Given the description of an element on the screen output the (x, y) to click on. 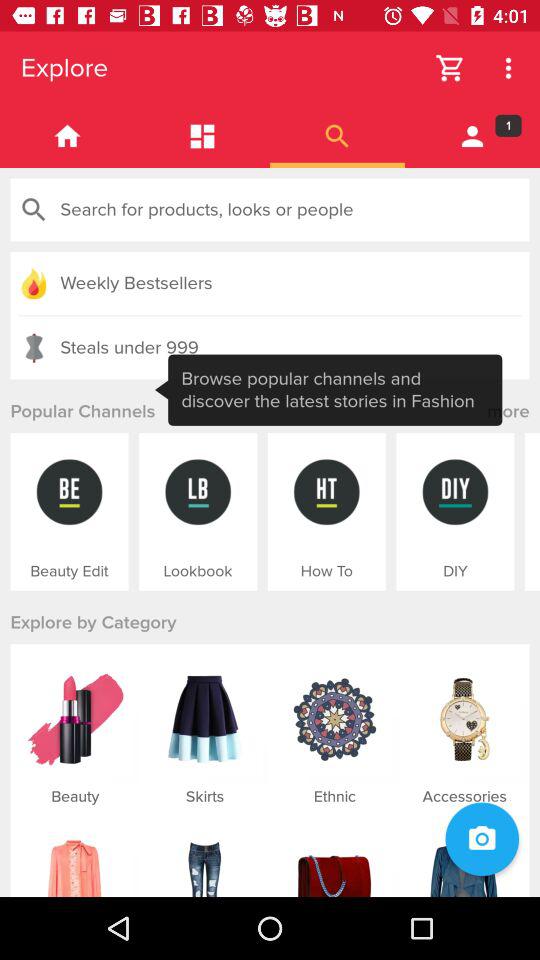
search products more (337, 136)
